Given the description of an element on the screen output the (x, y) to click on. 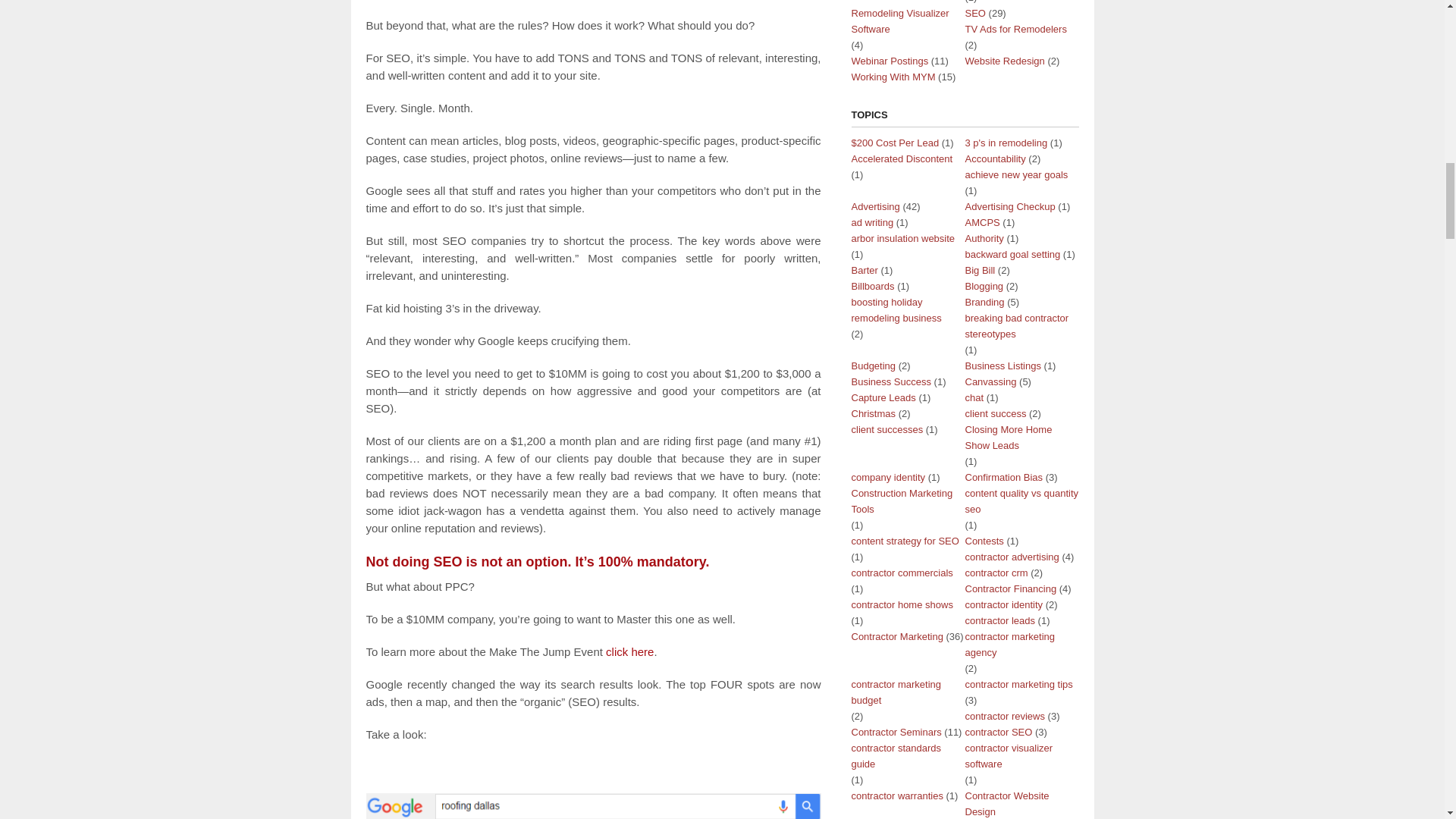
42 topics (874, 206)
1 topics (1015, 174)
1 topics (1004, 142)
1 topics (894, 142)
1 topics (901, 158)
2 topics (994, 158)
